Given the description of an element on the screen output the (x, y) to click on. 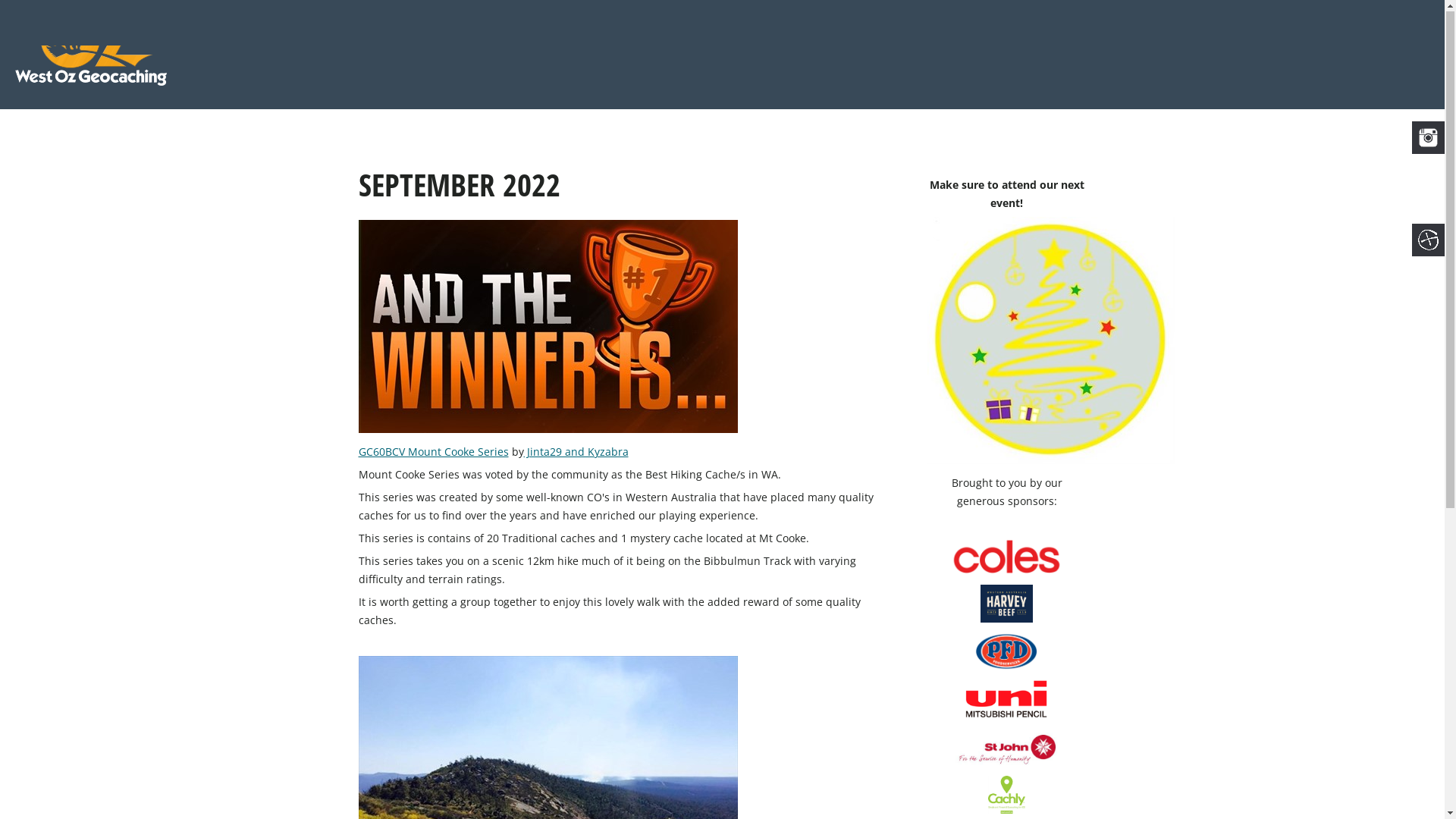
GC60BCV Mount Cooke Series Element type: text (432, 452)
Jinta29 and Kyzabra Element type: text (575, 452)
